Given the description of an element on the screen output the (x, y) to click on. 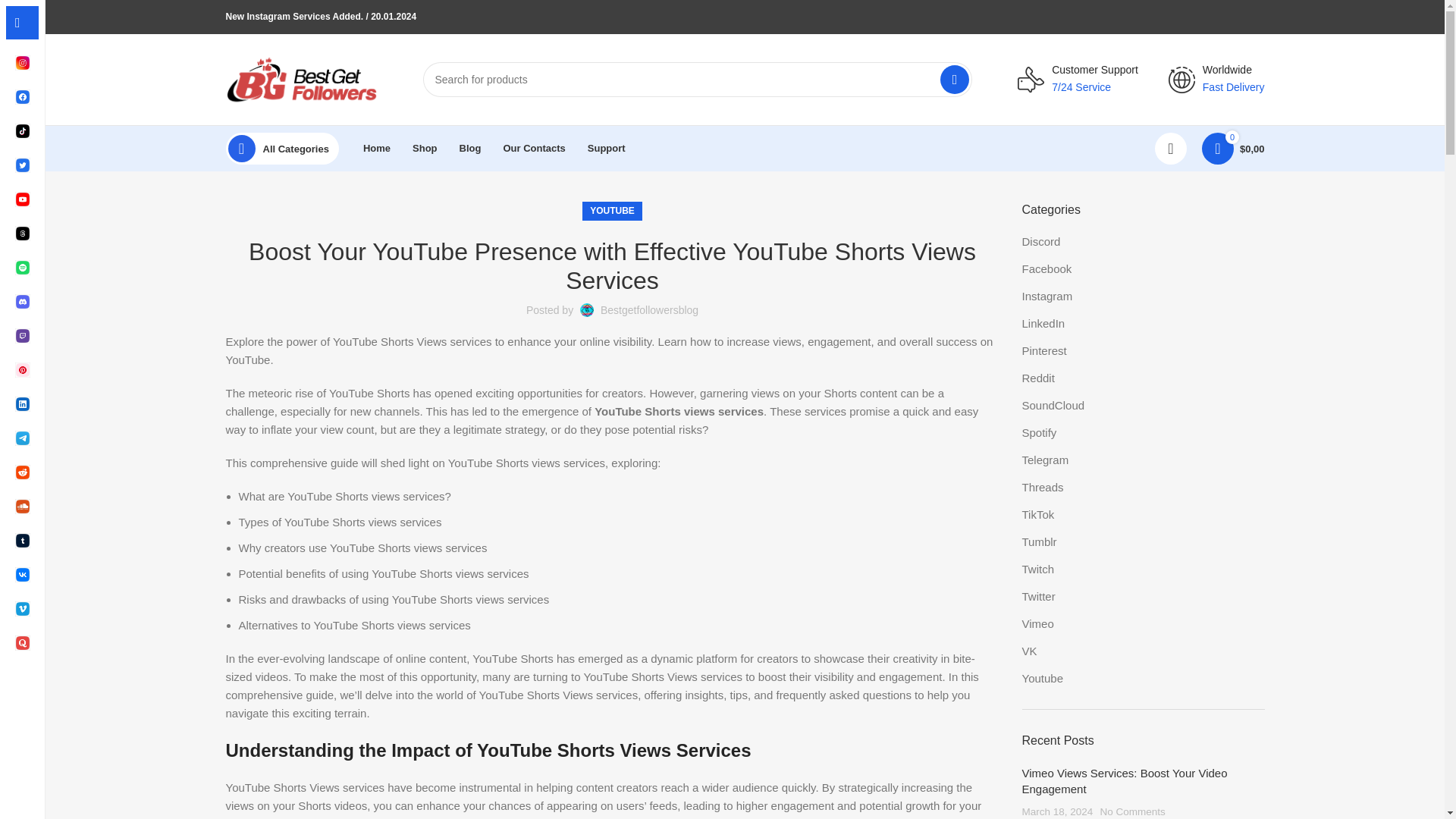
Shopping cart (1232, 148)
My account (1170, 148)
Search for products (697, 79)
